Given the description of an element on the screen output the (x, y) to click on. 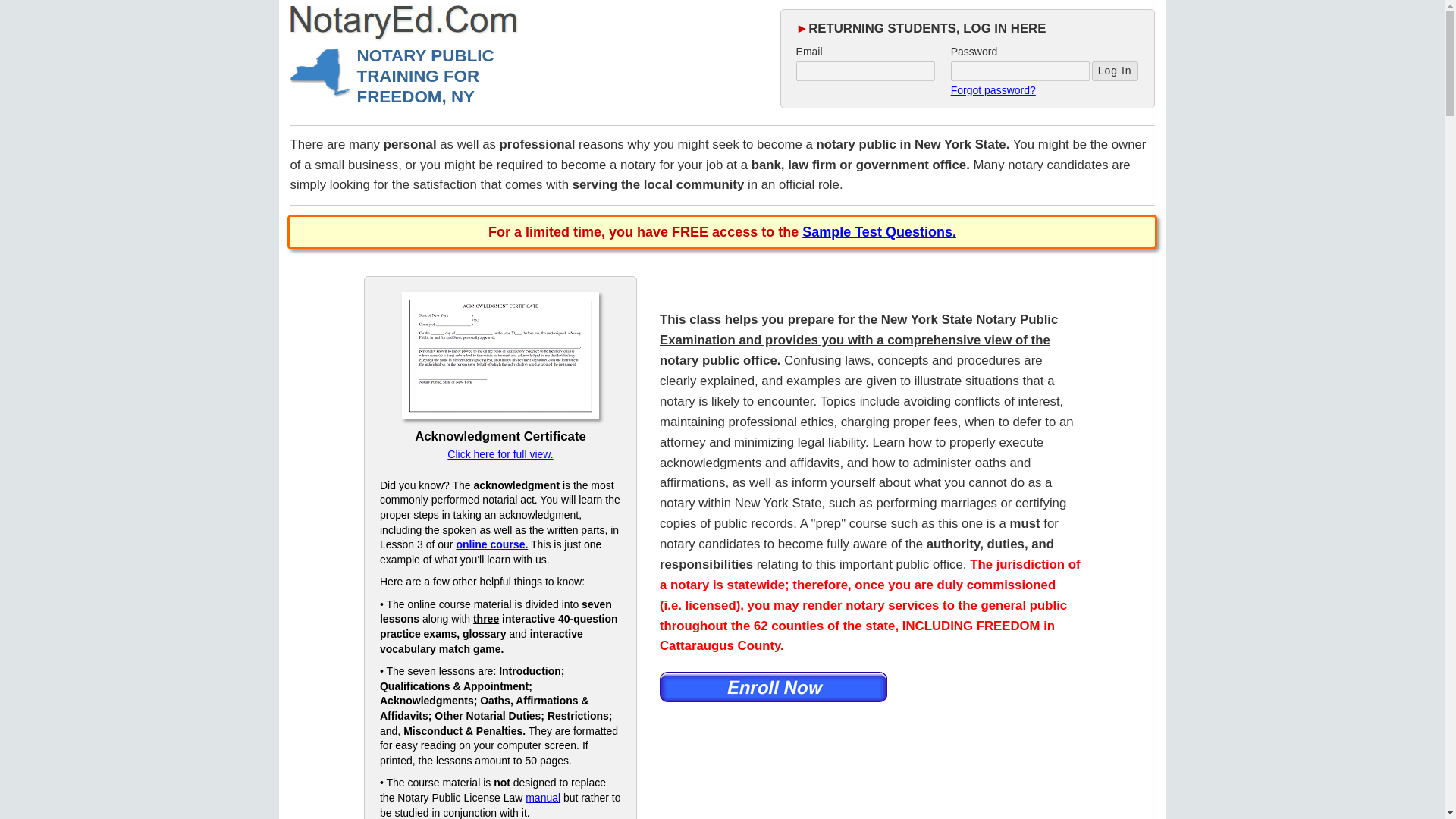
Sample Test Questions. (879, 231)
NOTARY PUBLIC TRAINING FOR FREEDOM, NY (424, 75)
Log In (1115, 71)
Log In (1115, 71)
online course. (491, 544)
Click here for full view. (499, 453)
Forgot password? (992, 90)
manual (542, 797)
